Given the description of an element on the screen output the (x, y) to click on. 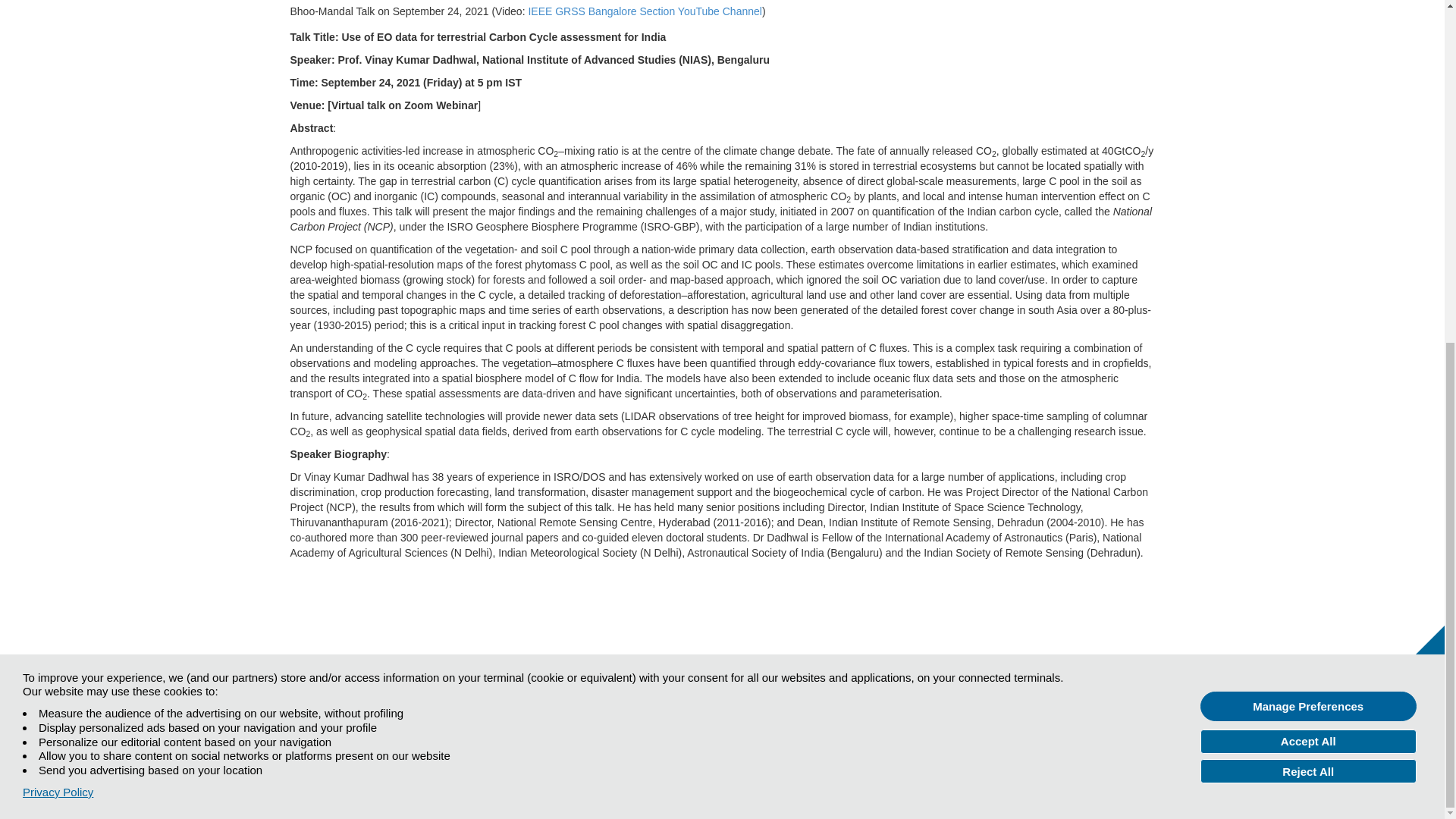
IEEE GRSS Bangalore Section YouTube Channel (644, 10)
Reject All (1307, 186)
Privacy Policy (58, 207)
Accept All (1307, 156)
Manage Preferences (1307, 121)
